Given the description of an element on the screen output the (x, y) to click on. 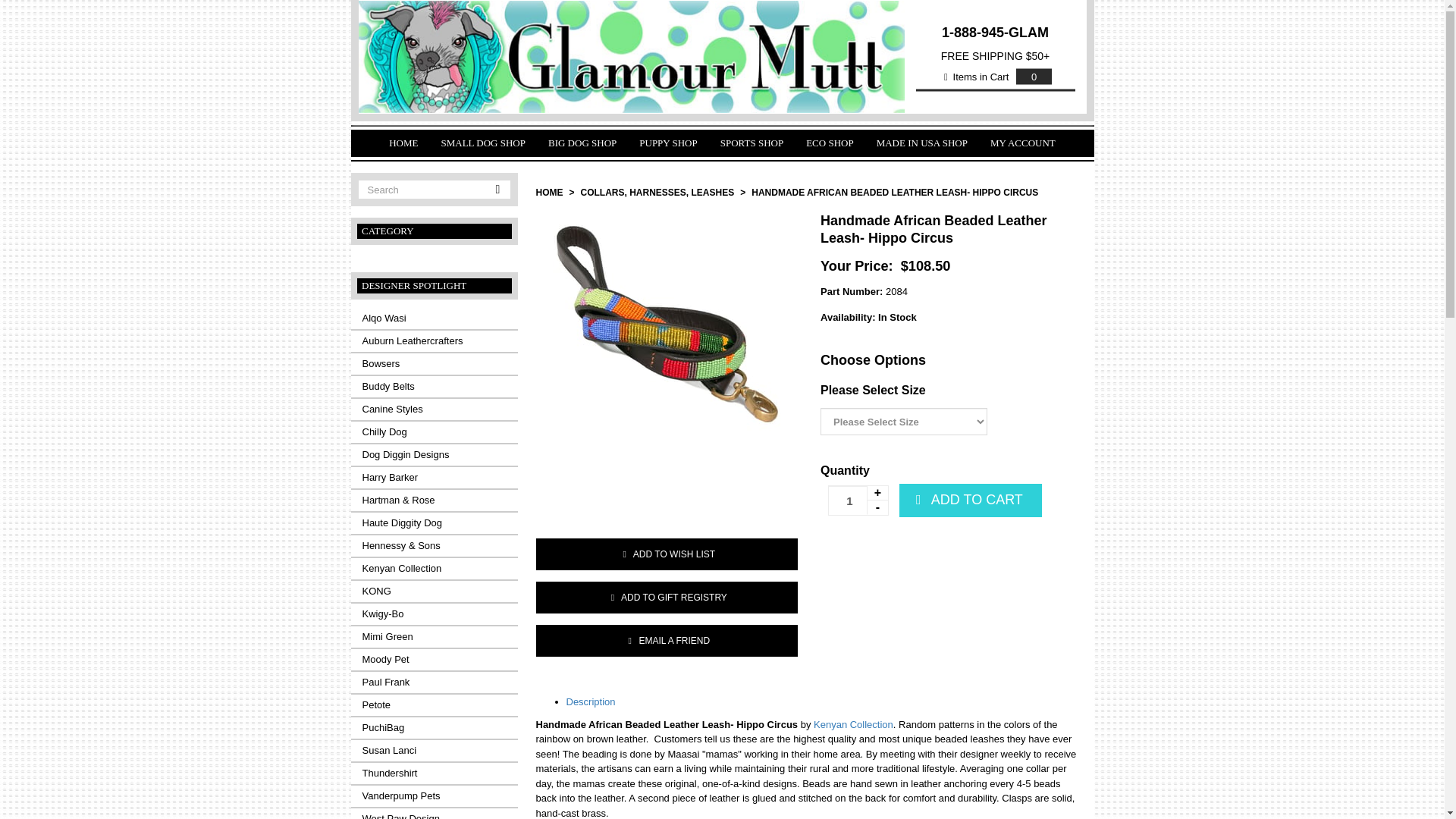
Bowsers (433, 363)
Vanderpump Pets (433, 795)
Dog Diggin Designs (433, 455)
West Paw Design (433, 813)
Moody Pet (433, 659)
PUPPY SHOP (667, 143)
Alqo Wasi (433, 318)
BIG DOG SHOP (582, 143)
MADE IN USA SHOP (921, 143)
SPORTS SHOP (751, 143)
